Given the description of an element on the screen output the (x, y) to click on. 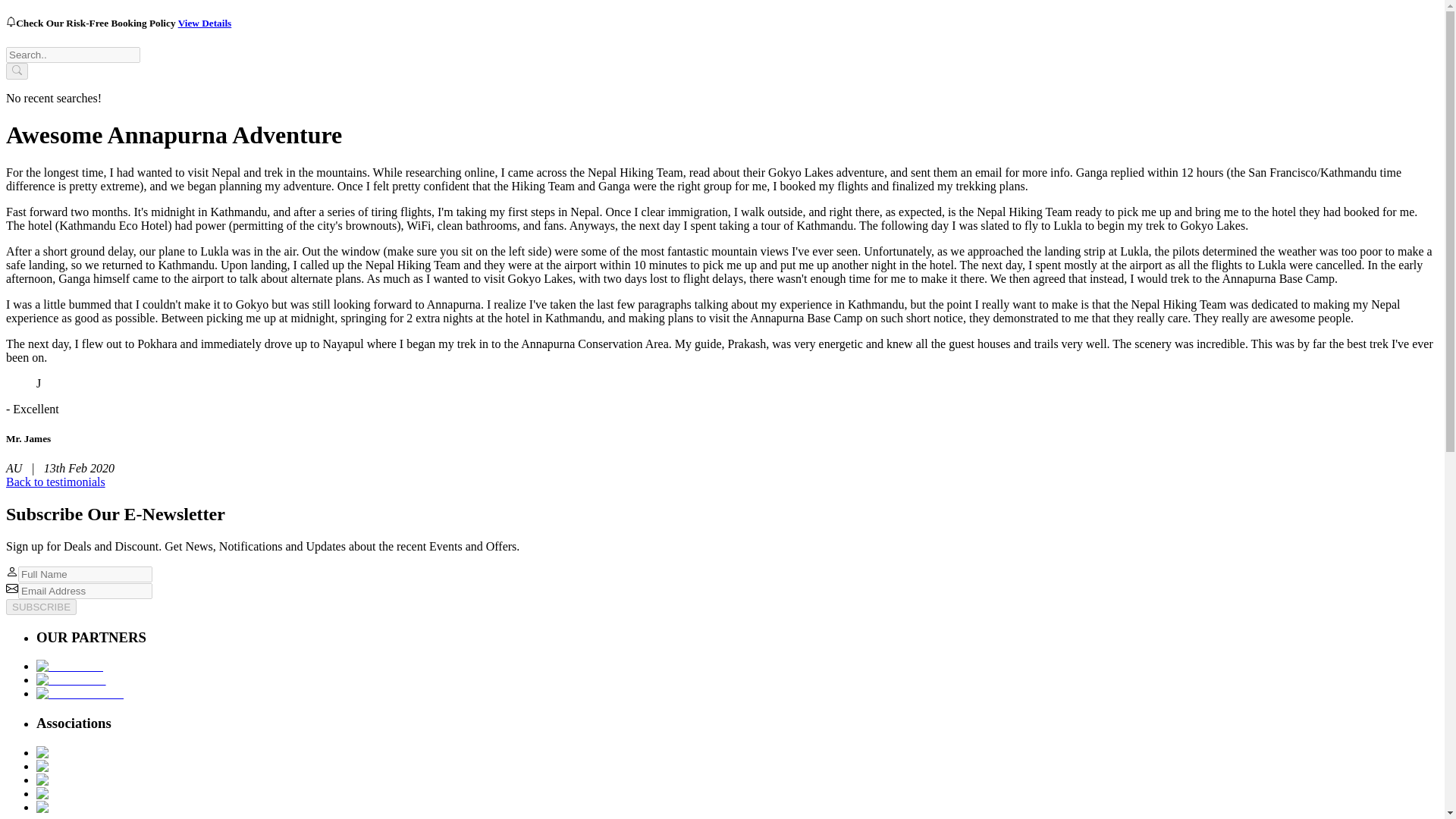
Back to testimonials (54, 481)
View Details (204, 22)
SUBSCRIBE (41, 606)
